Given the description of an element on the screen output the (x, y) to click on. 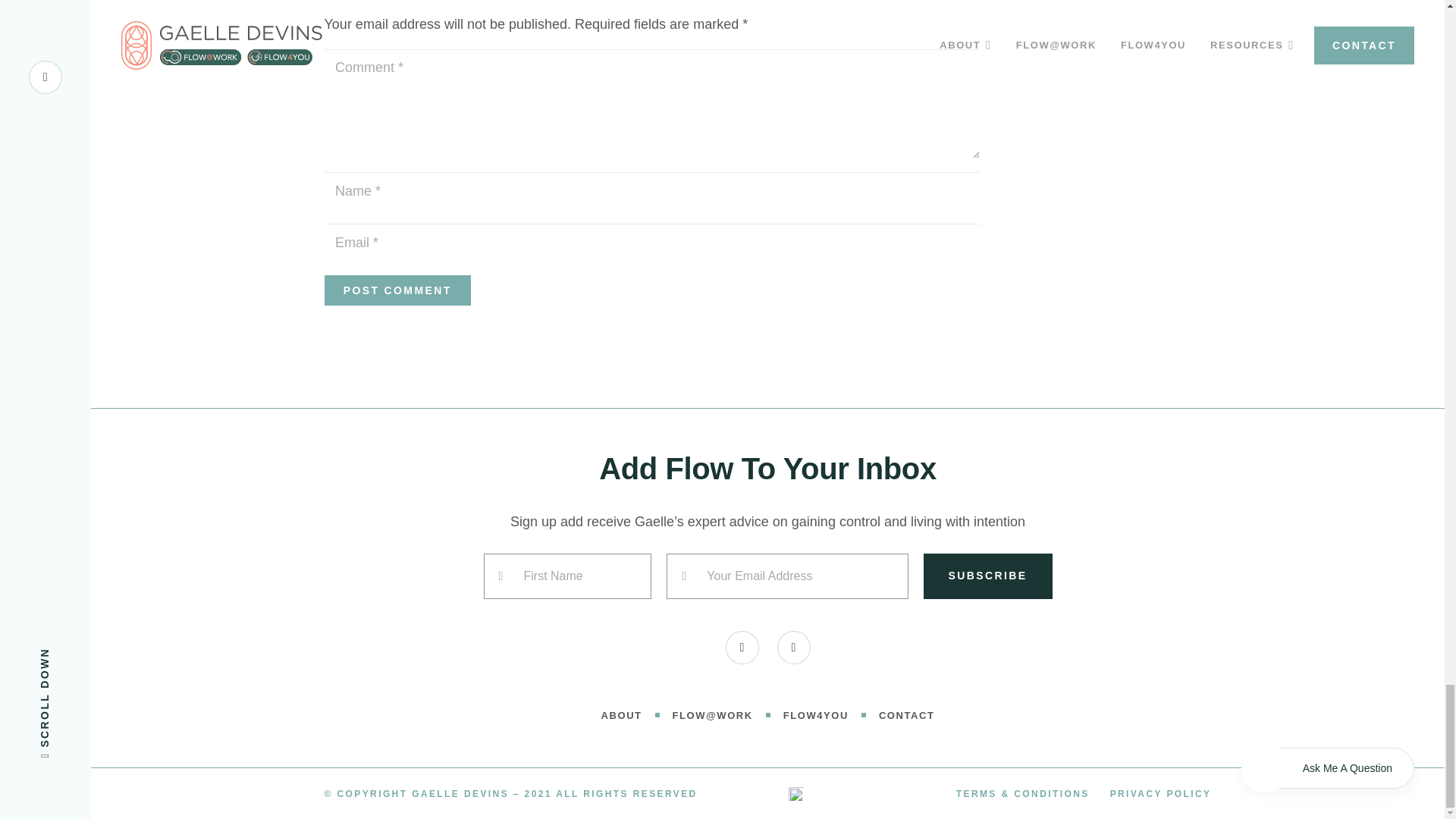
LinkedIn (741, 647)
POST COMMENT (397, 289)
RSS (792, 647)
FLOW4YOU (815, 715)
Subscribe (987, 575)
CONTACT (906, 715)
ABOUT (621, 715)
Subscribe (987, 575)
